Given the description of an element on the screen output the (x, y) to click on. 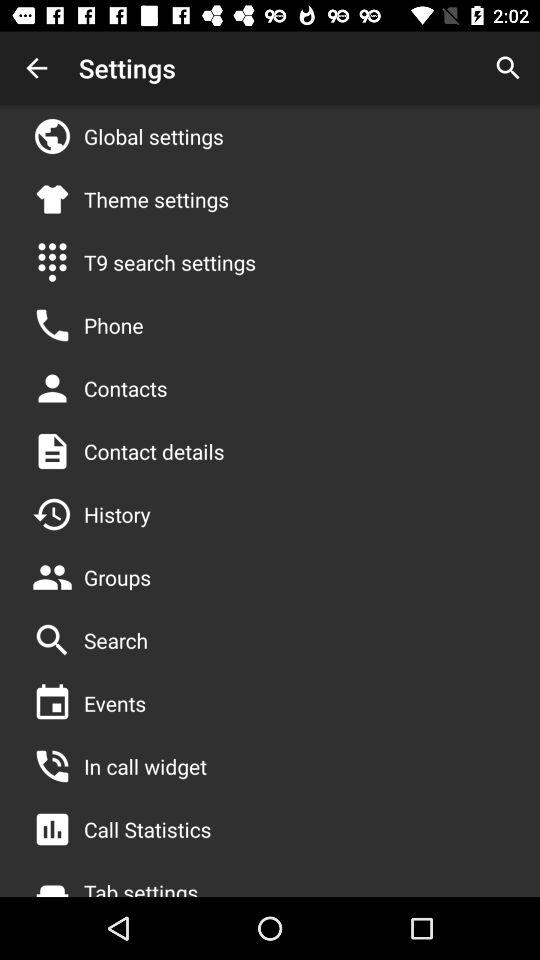
click the item below in call widget icon (147, 829)
